Given the description of an element on the screen output the (x, y) to click on. 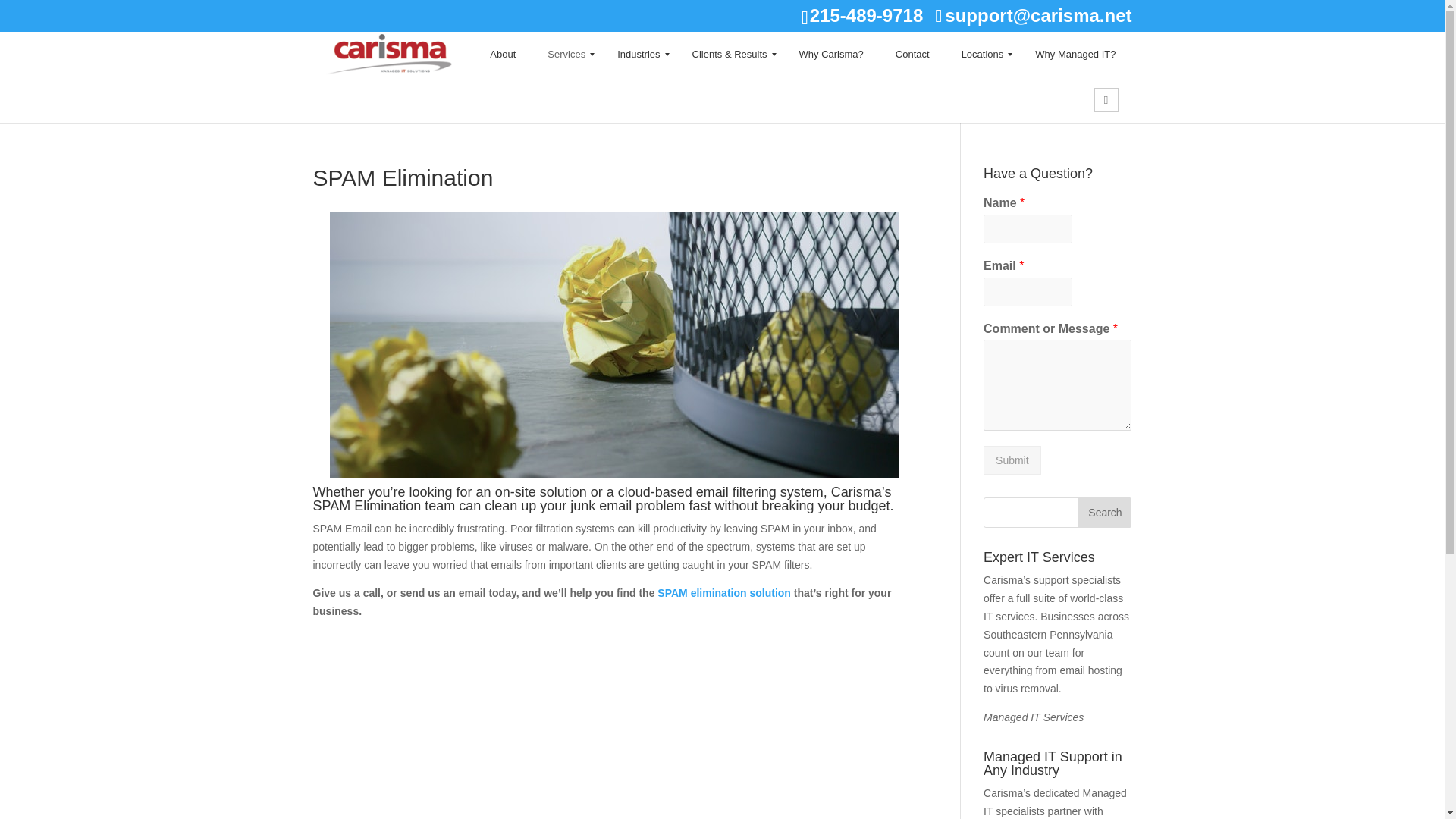
Search (1106, 99)
About (502, 54)
215-489-9718 (866, 14)
A Full Suite of Managed IT Support (1033, 717)
Services (566, 54)
Carisma IT (388, 53)
SPAM (724, 592)
Search (1104, 512)
